Given the description of an element on the screen output the (x, y) to click on. 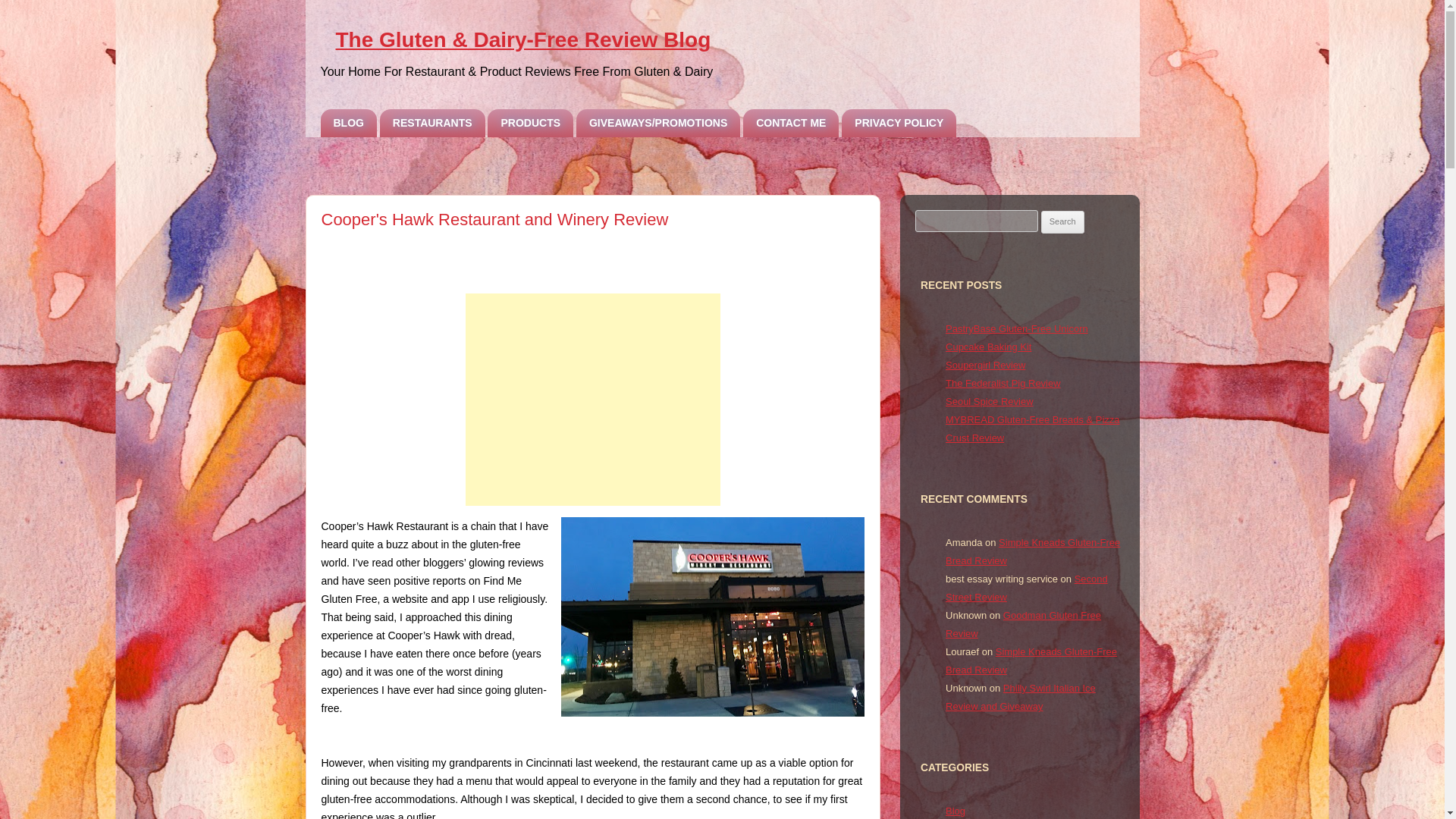
Simple Kneads Gluten-Free Bread Review (1030, 660)
Philly Swirl Italian Ice Review and Giveaway (1020, 696)
PRODUCTS (530, 122)
RESTAURANTS (432, 122)
CONTACT ME (790, 122)
Blog (954, 810)
Second Street Review (1026, 587)
Soupergirl Review (984, 365)
BLOG (347, 122)
PastryBase Gluten-Free Unicorn Cupcake Baking Kit (1015, 337)
Advertisement (592, 399)
Simple Kneads Gluten-Free Bread Review (1031, 551)
The Federalist Pig Review (1002, 383)
Goodman Gluten Free Review (1022, 624)
